Given the description of an element on the screen output the (x, y) to click on. 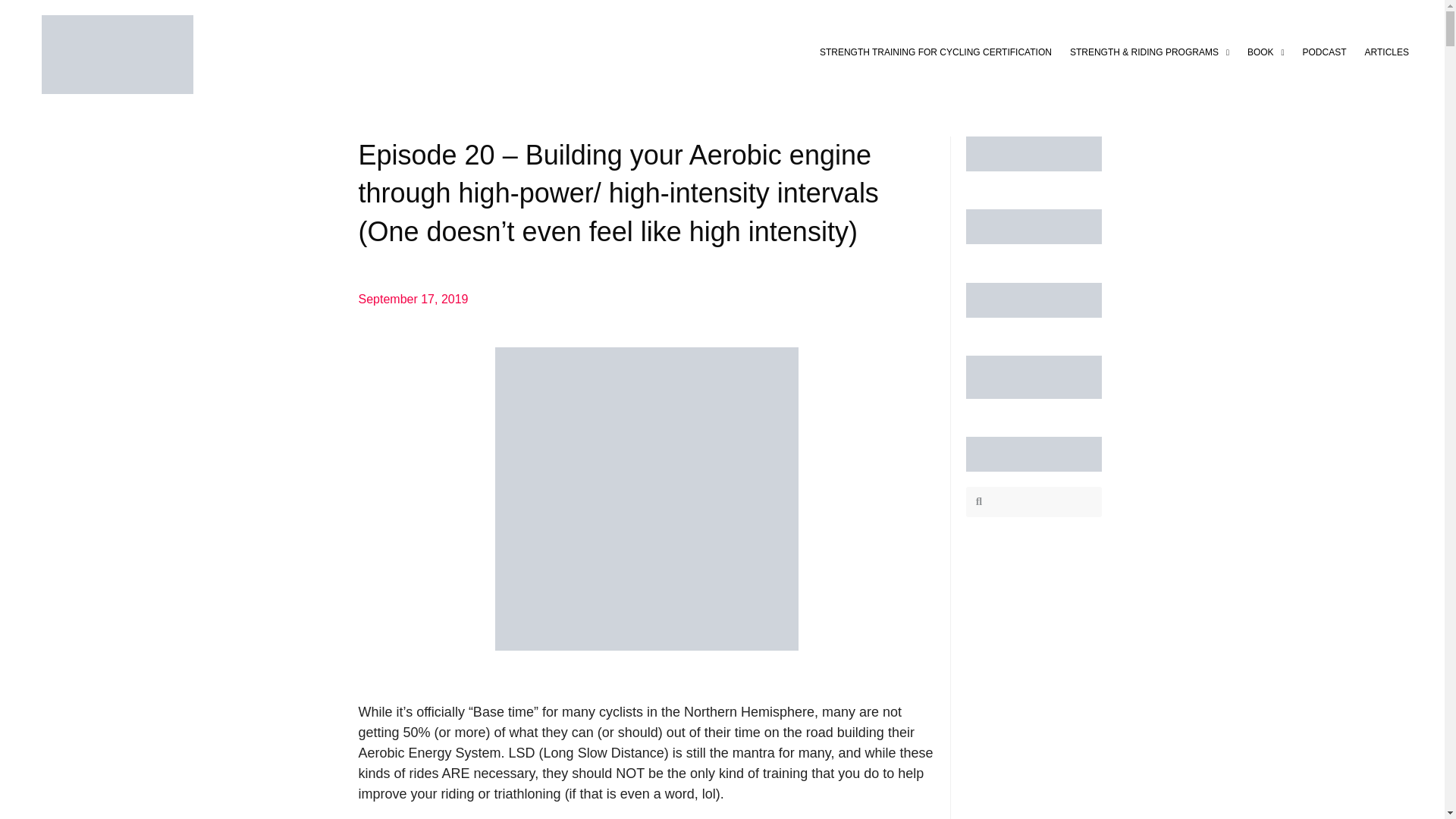
ARTICLES (1386, 51)
PODCAST (1324, 51)
BOOK (1266, 51)
STRENGTH TRAINING FOR CYCLING CERTIFICATION (935, 51)
